Given the description of an element on the screen output the (x, y) to click on. 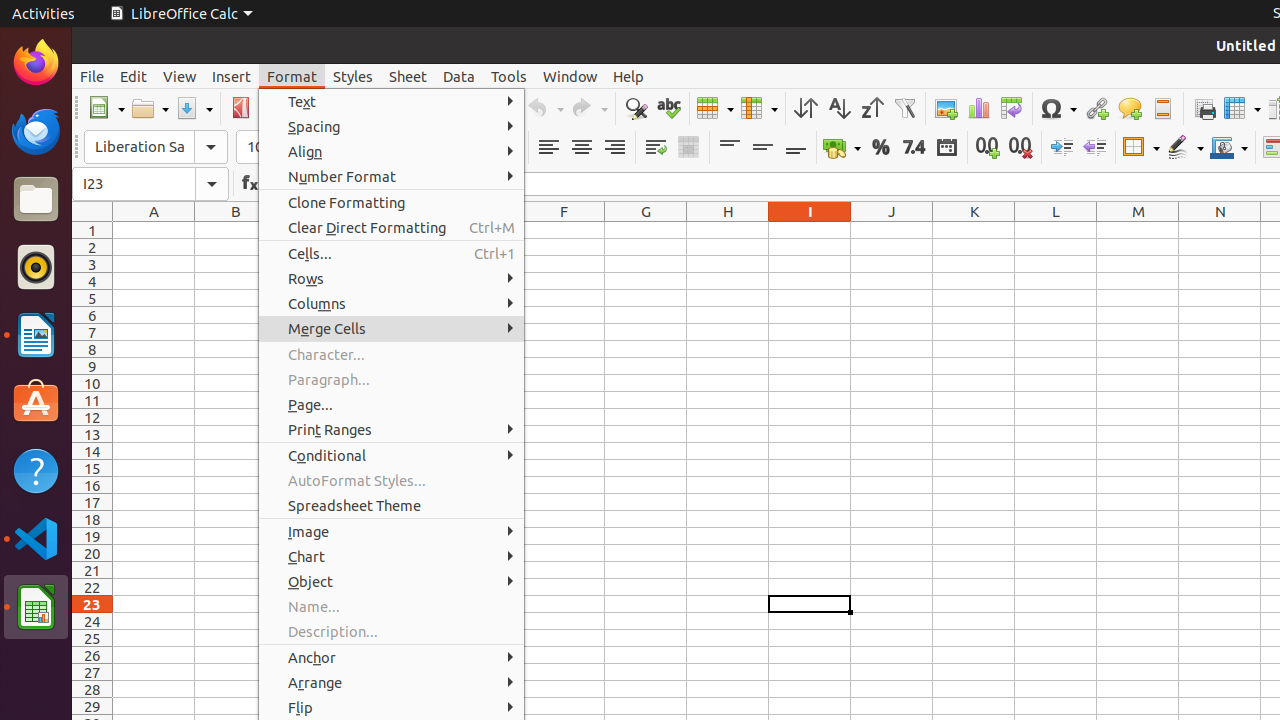
Save Element type: push-button (194, 108)
Cells... Element type: menu-item (391, 253)
Number Element type: push-button (913, 147)
Border Color Element type: push-button (1229, 147)
Merge Cells Element type: menu-item (630, 353)
